Given the description of an element on the screen output the (x, y) to click on. 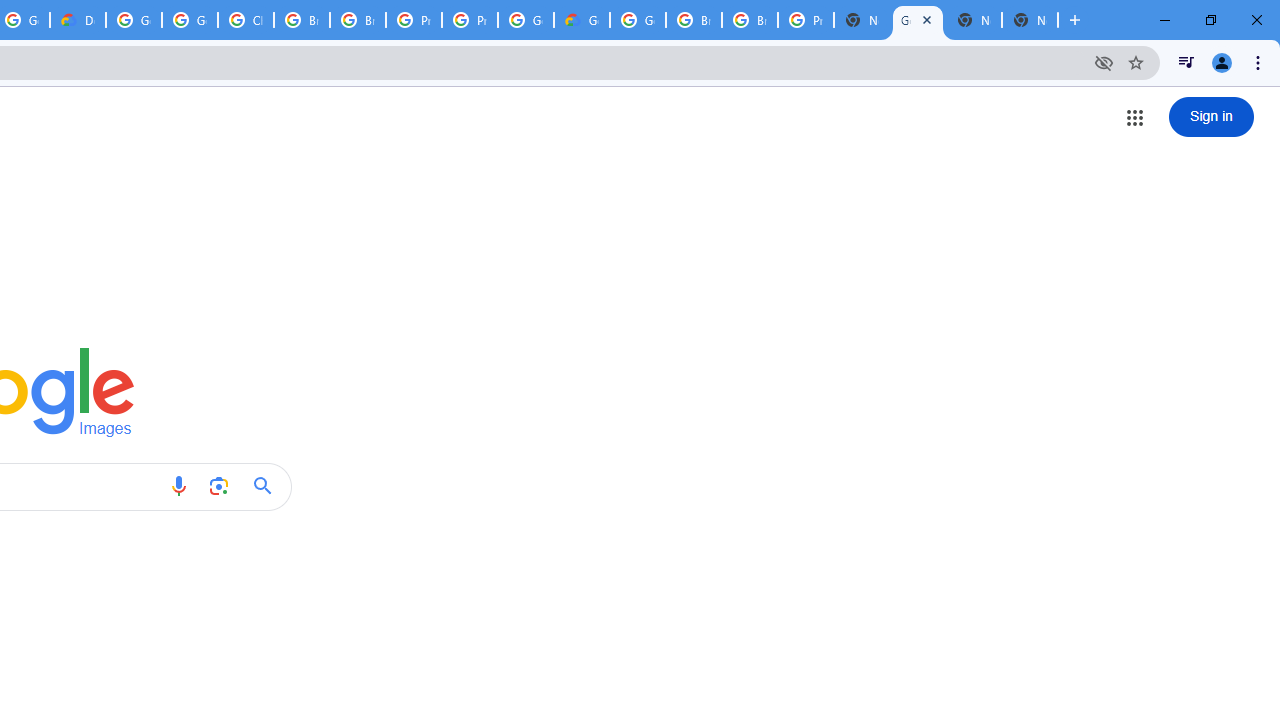
Google Cloud Platform (525, 20)
New Tab (1030, 20)
Google Search (268, 485)
Browse Chrome as a guest - Computer - Google Chrome Help (301, 20)
New Tab (861, 20)
Google Images (917, 20)
